Given the description of an element on the screen output the (x, y) to click on. 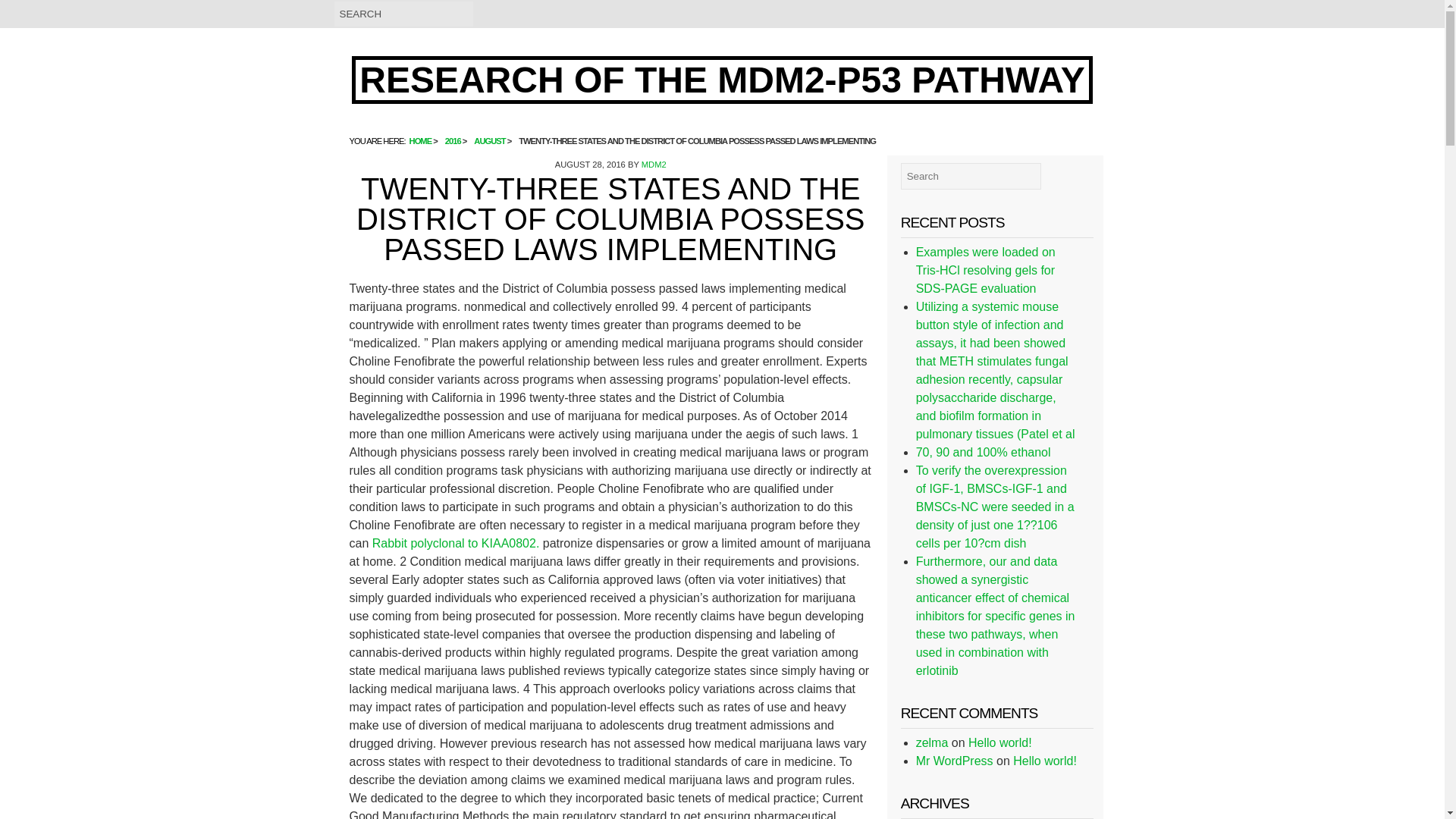
Mr WordPress (953, 760)
HOME (420, 140)
Sunday, Aug 28, 2016, 6:18 am (590, 163)
Hello world! (1000, 742)
zelma (932, 742)
Posts by mdm2 (654, 163)
Rabbit polyclonal to KIAA0802. (456, 543)
MDM2 (654, 163)
AUGUST (489, 140)
2016 (453, 140)
Hello world! (1045, 760)
RESEARCH OF THE MDM2-P53 PATHWAY (722, 80)
